Given the description of an element on the screen output the (x, y) to click on. 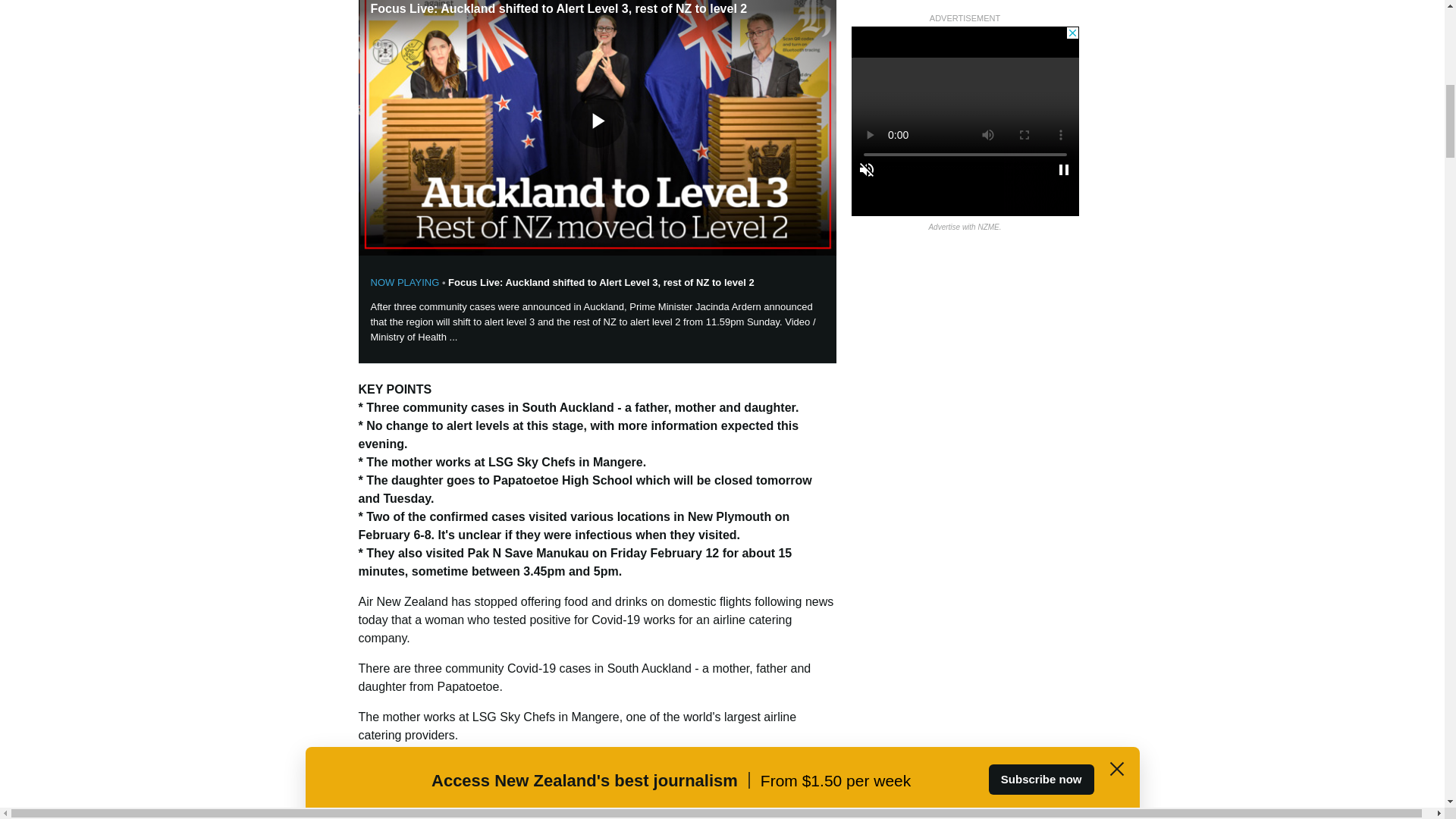
Play Video (596, 121)
